Given the description of an element on the screen output the (x, y) to click on. 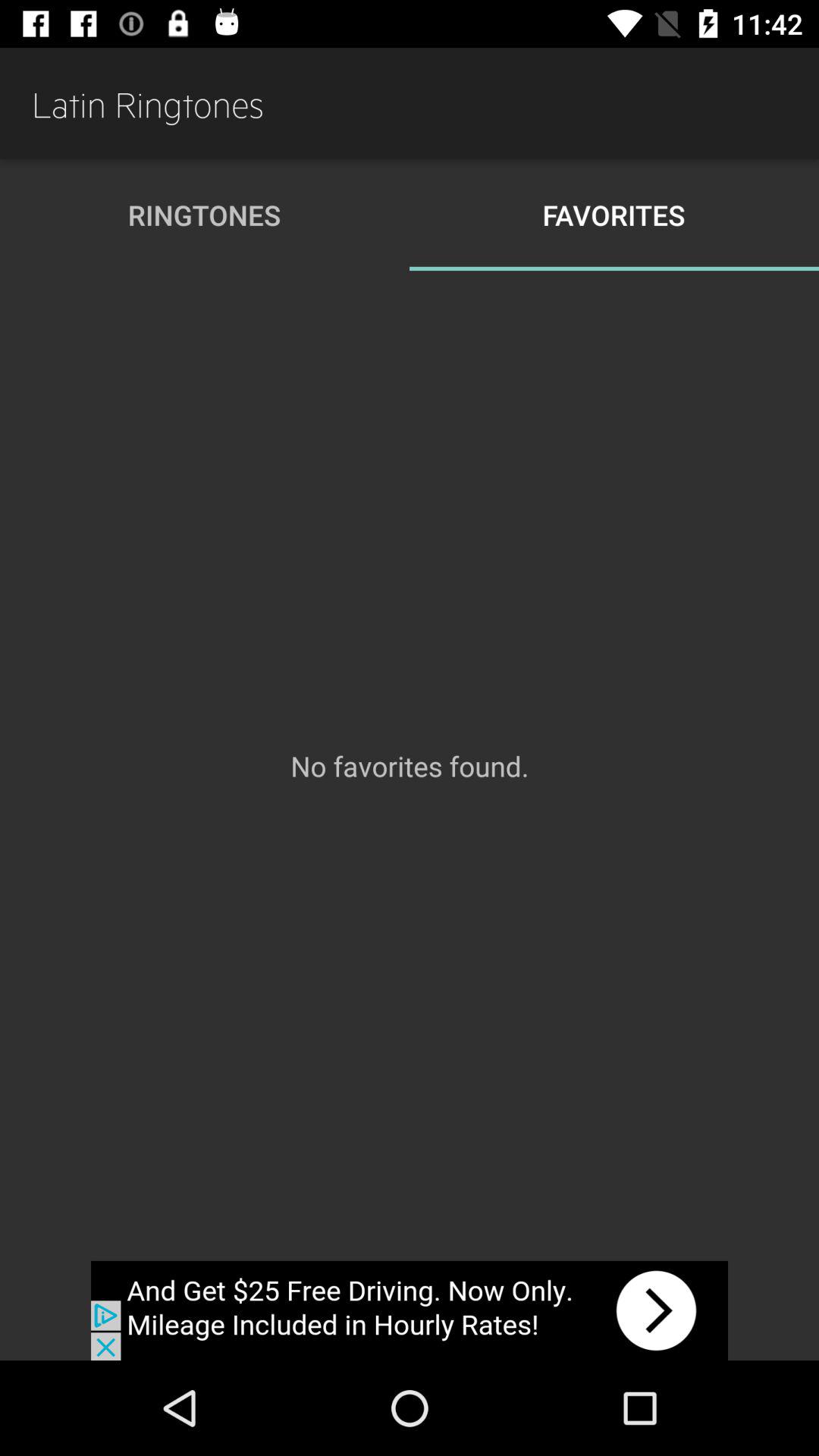
toggle autoplay option (409, 1310)
